Given the description of an element on the screen output the (x, y) to click on. 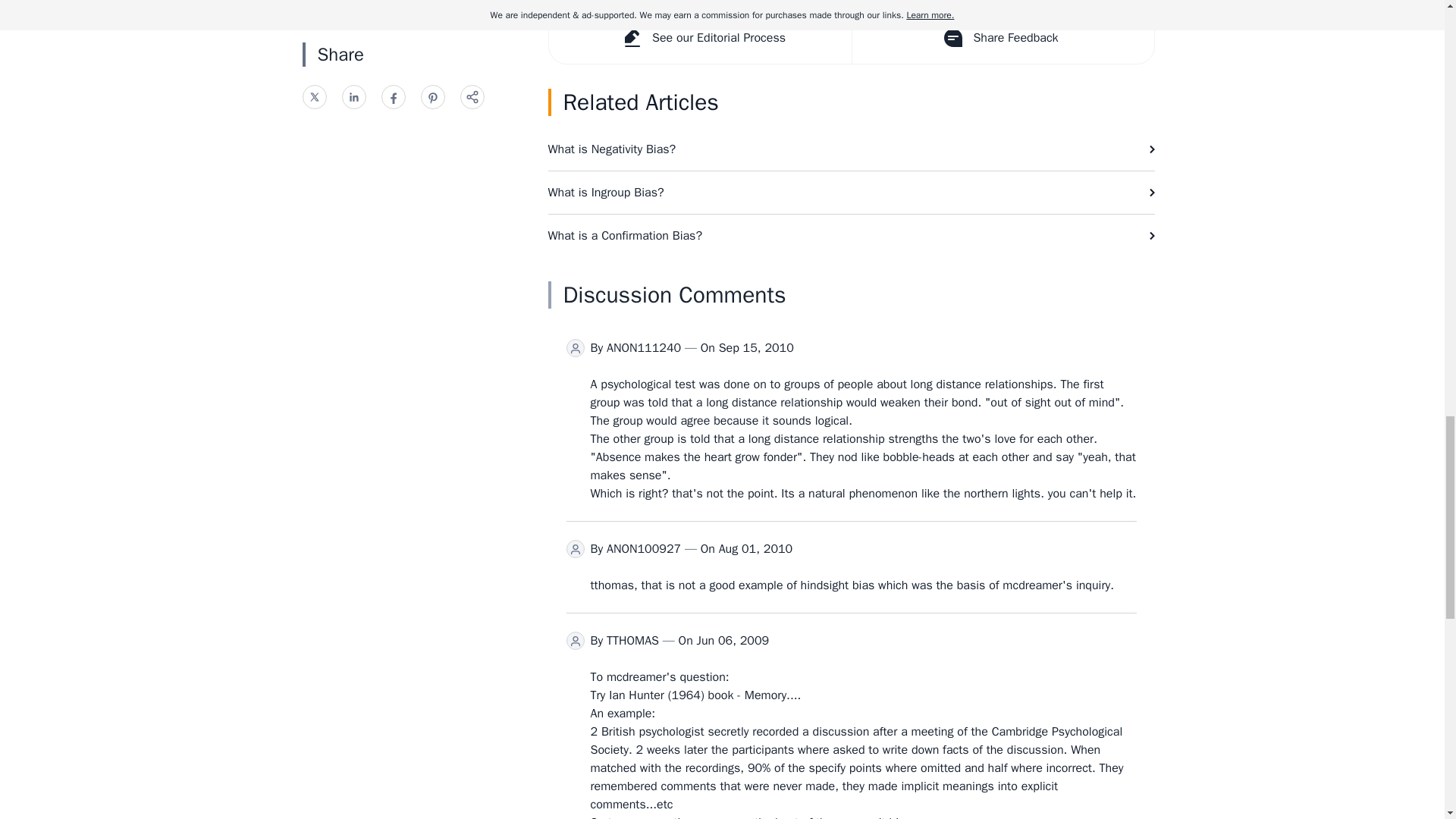
See our Editorial Process (699, 37)
What is Ingroup Bias? (850, 192)
What is Negativity Bias? (850, 148)
What is a Confirmation Bias? (850, 235)
Share Feedback (1001, 37)
